Given the description of an element on the screen output the (x, y) to click on. 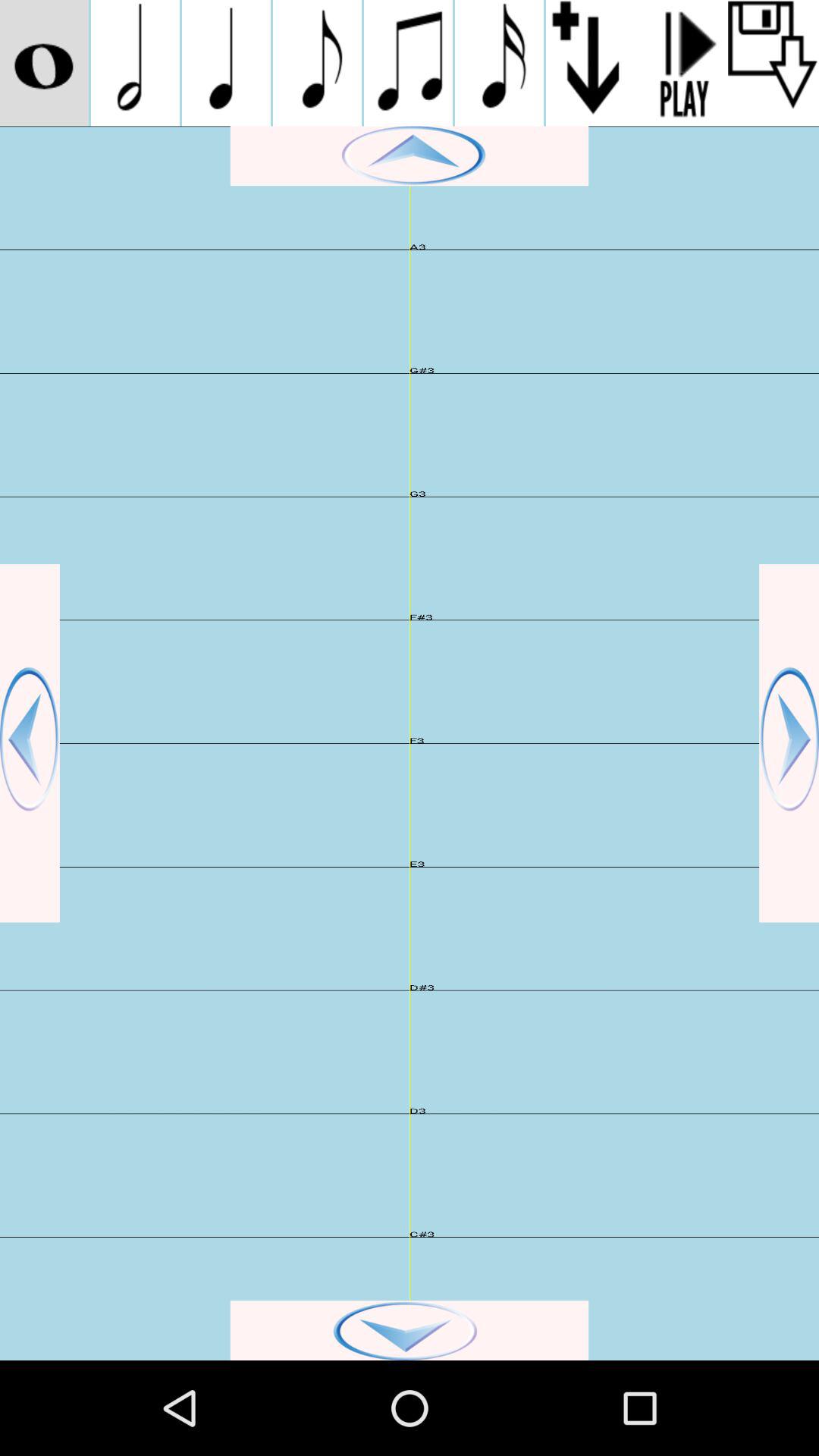
play (682, 63)
